Given the description of an element on the screen output the (x, y) to click on. 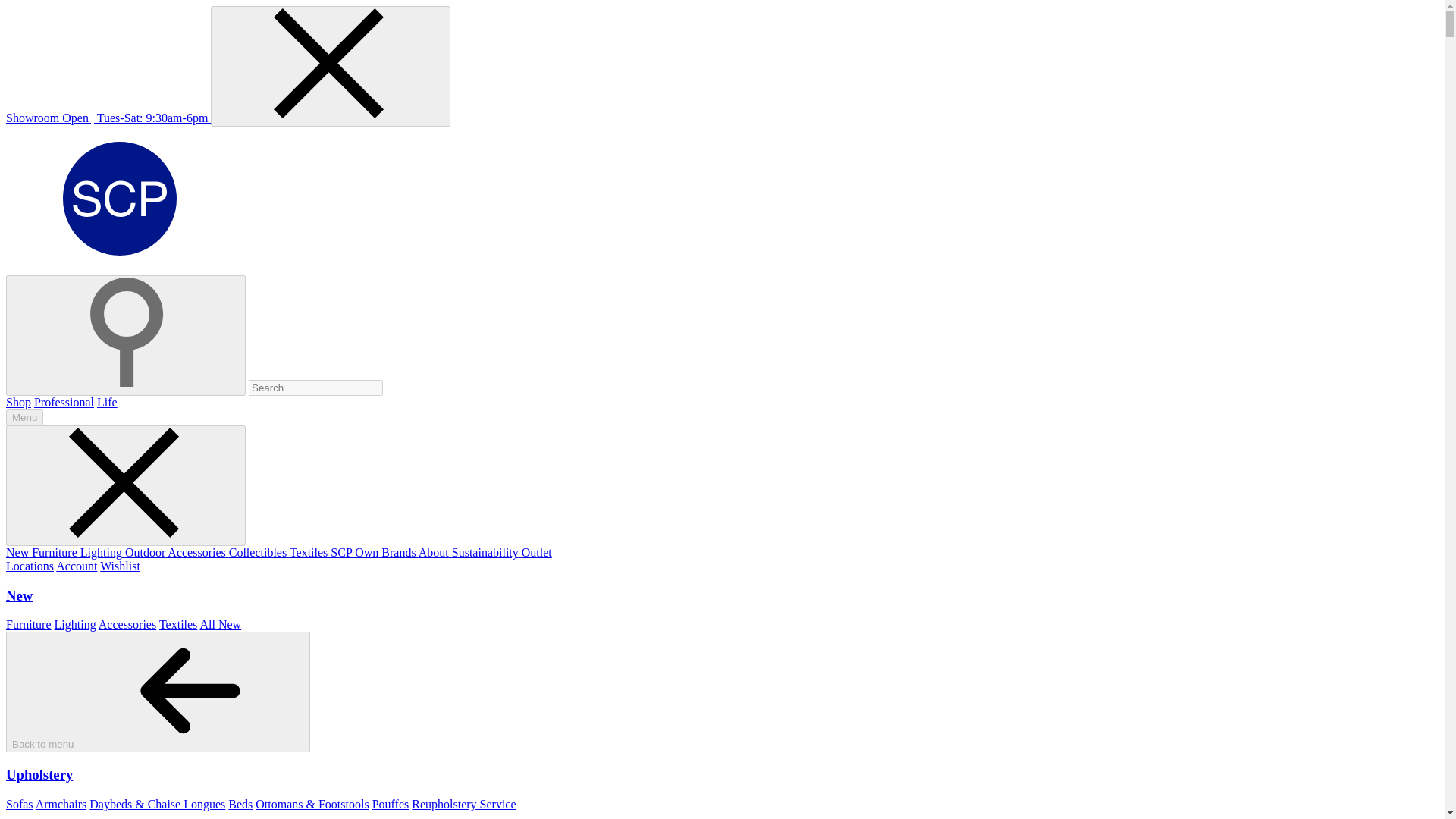
Sofas (19, 803)
Menu (24, 417)
Textiles (177, 624)
About (435, 552)
All New (220, 624)
Shop (17, 401)
Wishlist (119, 565)
Textiles (309, 552)
New (18, 552)
Outdoor (146, 552)
